Given the description of an element on the screen output the (x, y) to click on. 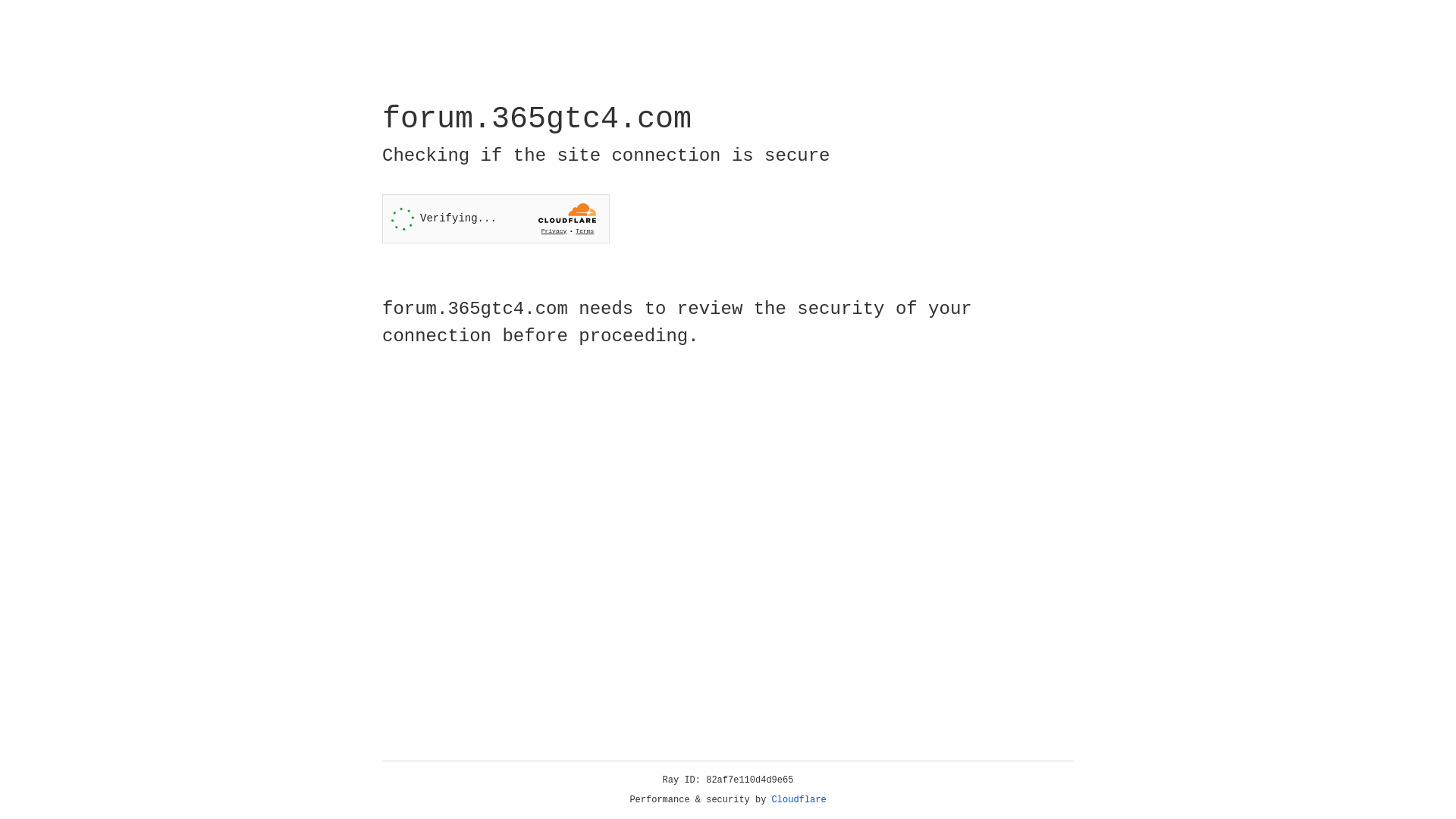
Widget containing a Cloudflare security challenge Element type: hover (495, 218)
Cloudflare Element type: text (798, 799)
